Given the description of an element on the screen output the (x, y) to click on. 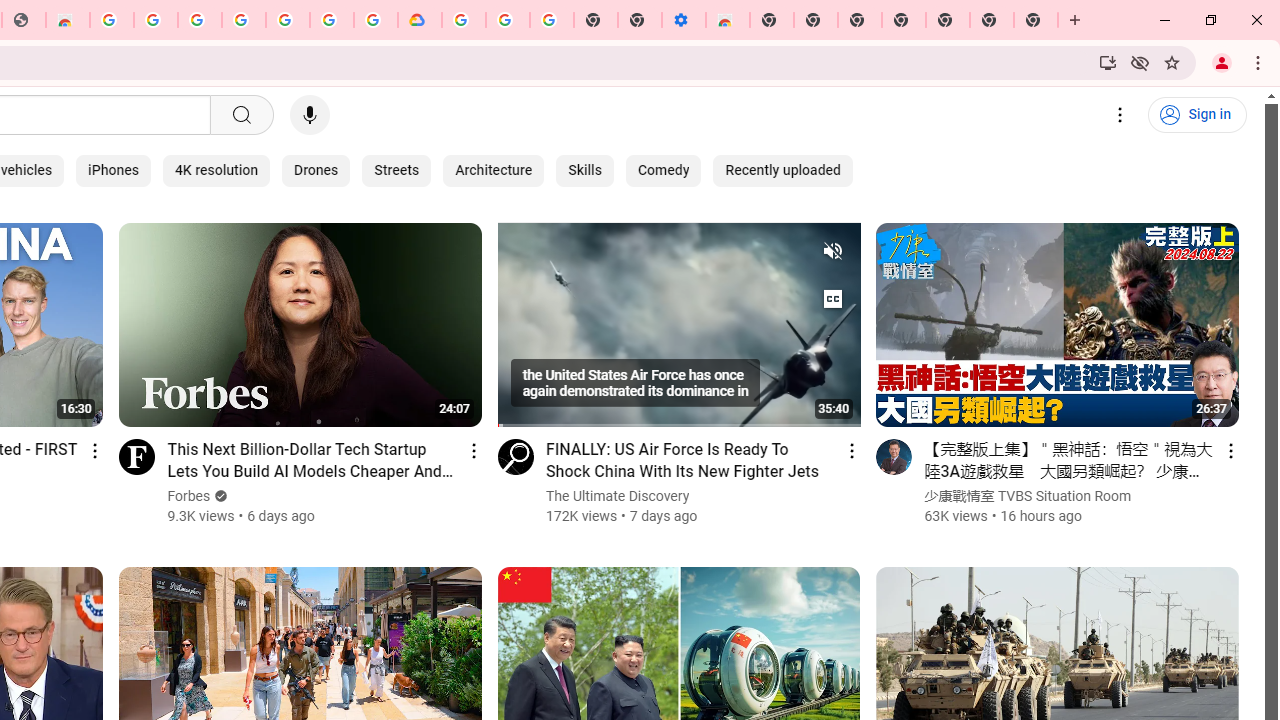
Skills (584, 170)
Sign in - Google Accounts (463, 20)
4K resolution (216, 170)
New Tab (771, 20)
Ad Settings (155, 20)
Sign in - Google Accounts (331, 20)
Sign in - Google Accounts (199, 20)
Install YouTube (1107, 62)
New Tab (1035, 20)
